Given the description of an element on the screen output the (x, y) to click on. 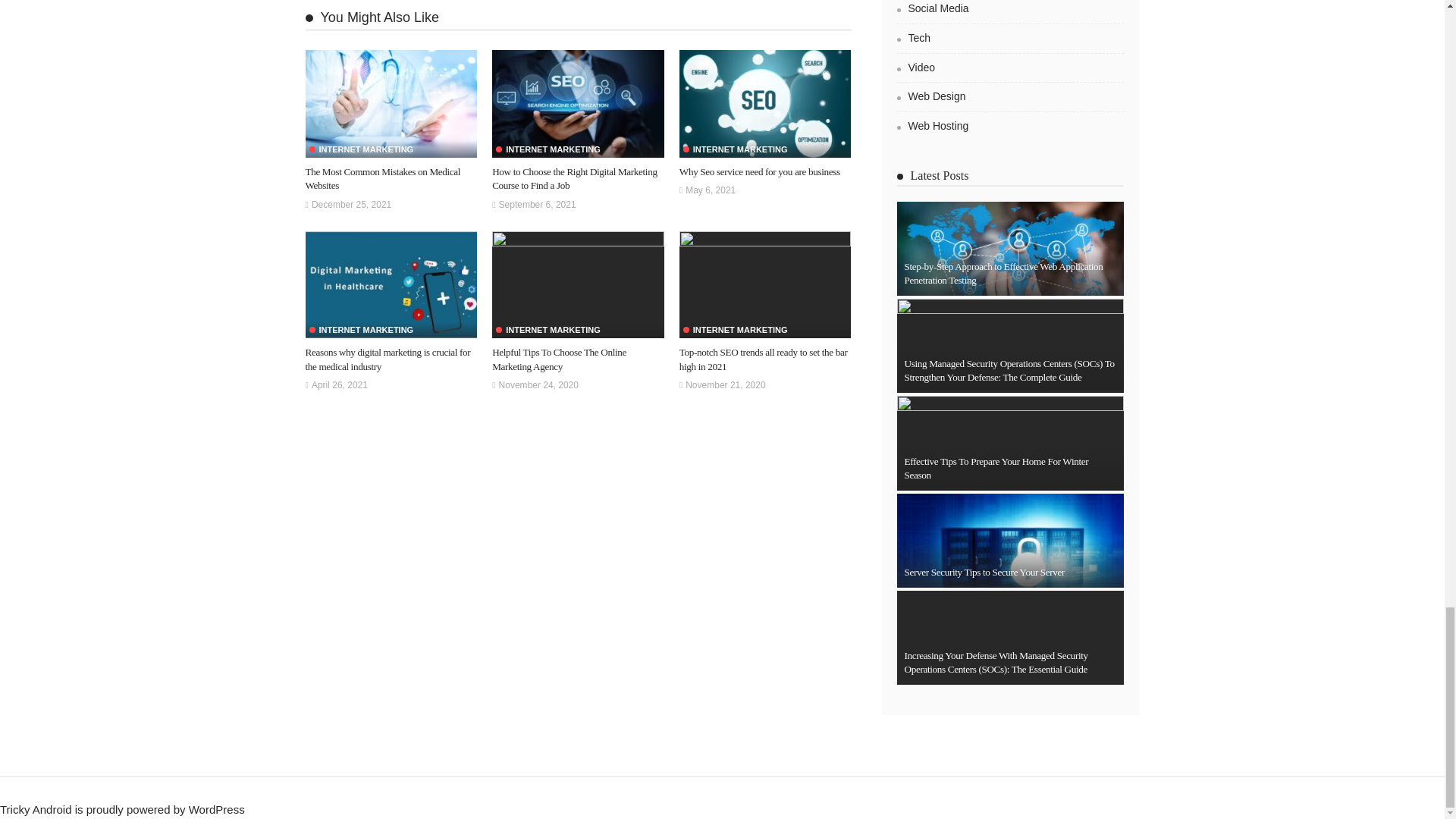
Internet Marketing (360, 149)
Internet Marketing (547, 149)
The Most Common Mistakes on Medical Websites (390, 103)
The Most Common Mistakes on Medical Websites (382, 178)
